Given the description of an element on the screen output the (x, y) to click on. 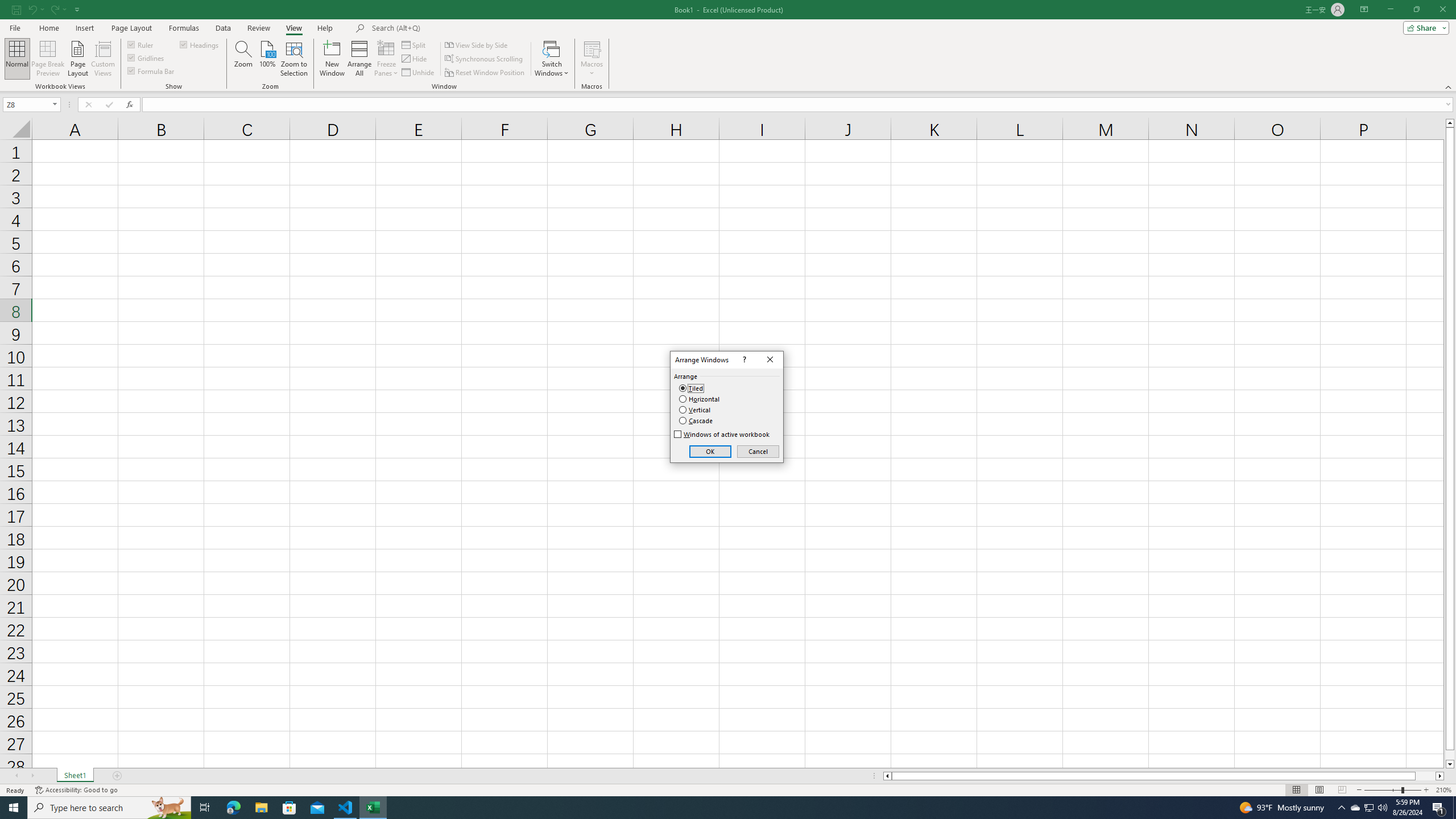
Ruler (141, 44)
User Promoted Notification Area (1368, 807)
Zoom... (242, 58)
Action Center, 1 new notification (1439, 807)
Cascade (696, 420)
Microsoft search (450, 28)
Excel - 1 running window (373, 807)
